Given the description of an element on the screen output the (x, y) to click on. 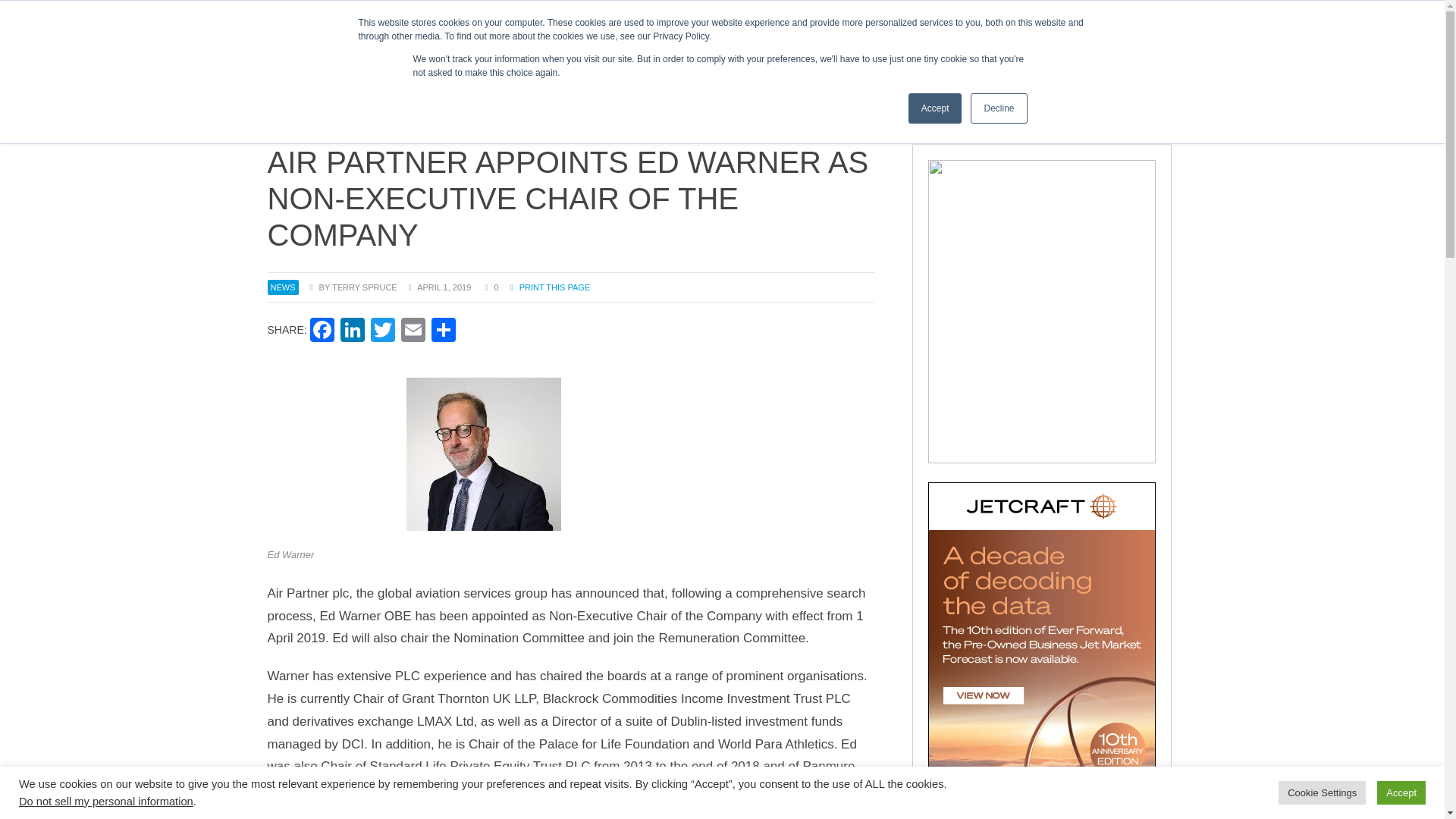
Email (412, 331)
Search (599, 14)
Accept (935, 108)
EVENTS (1005, 70)
AIRCRAFT (754, 70)
Twitter (382, 331)
CONTACT (335, 15)
ABOUT (285, 15)
LinkedIn (352, 331)
PUBLICATIONS (915, 70)
NEWS (537, 70)
NEWSLETTER (607, 70)
OPINION (682, 70)
Go to top (1391, 799)
